Given the description of an element on the screen output the (x, y) to click on. 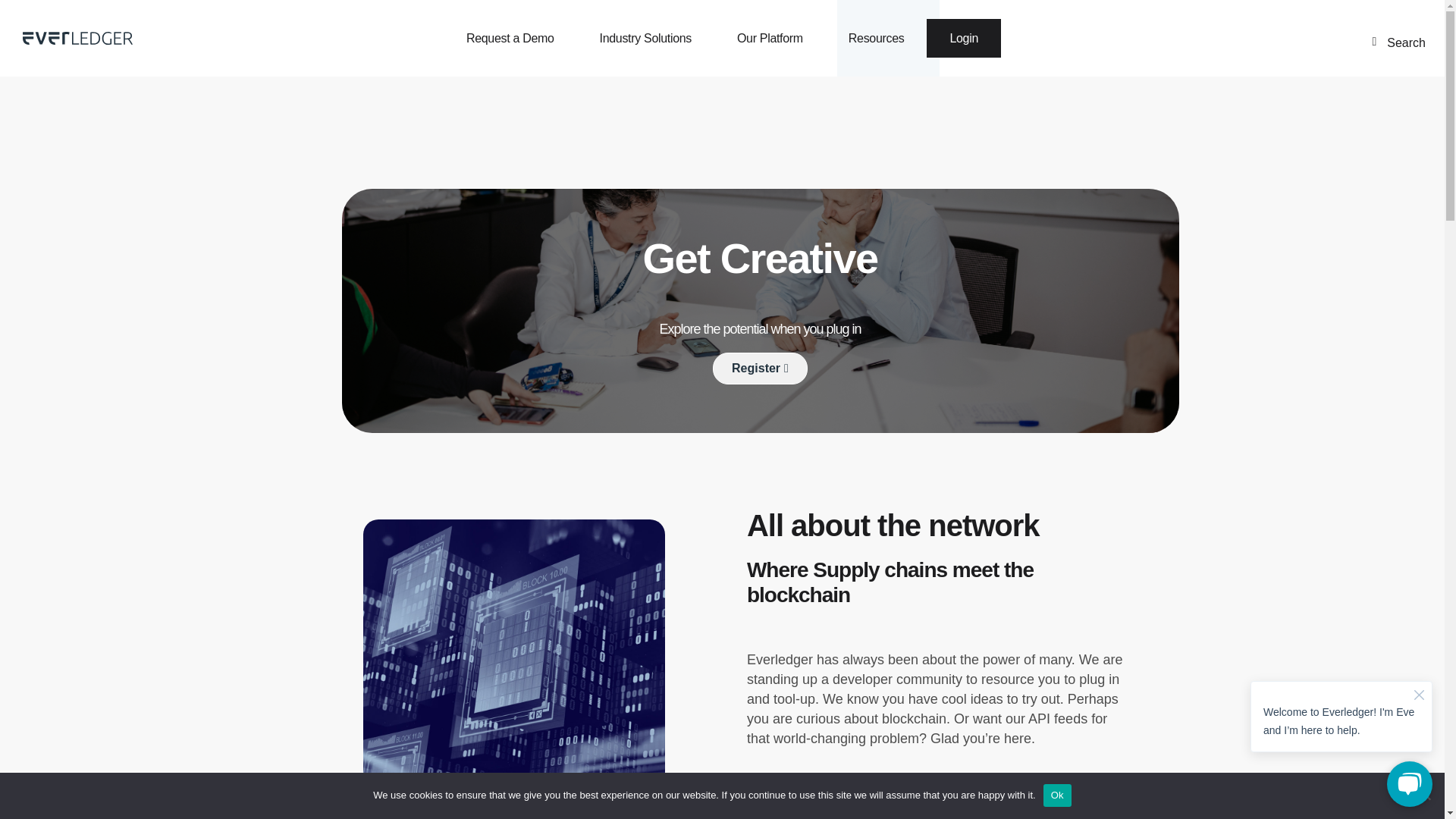
Login (963, 37)
Industry Solutions (645, 38)
Request a Demo (510, 38)
Resources (876, 38)
Our Platform (769, 38)
No (1425, 795)
